Given the description of an element on the screen output the (x, y) to click on. 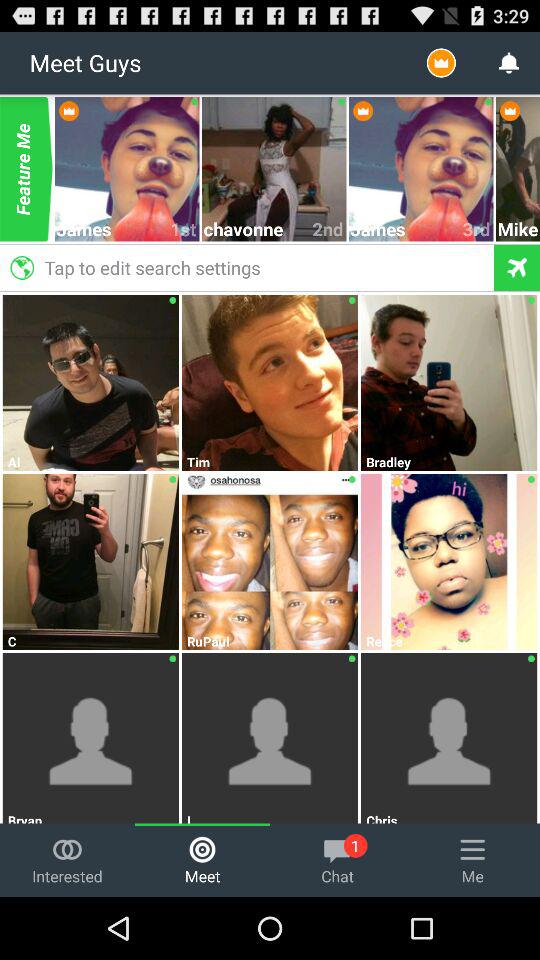
open icon next to chavonne (328, 228)
